Given the description of an element on the screen output the (x, y) to click on. 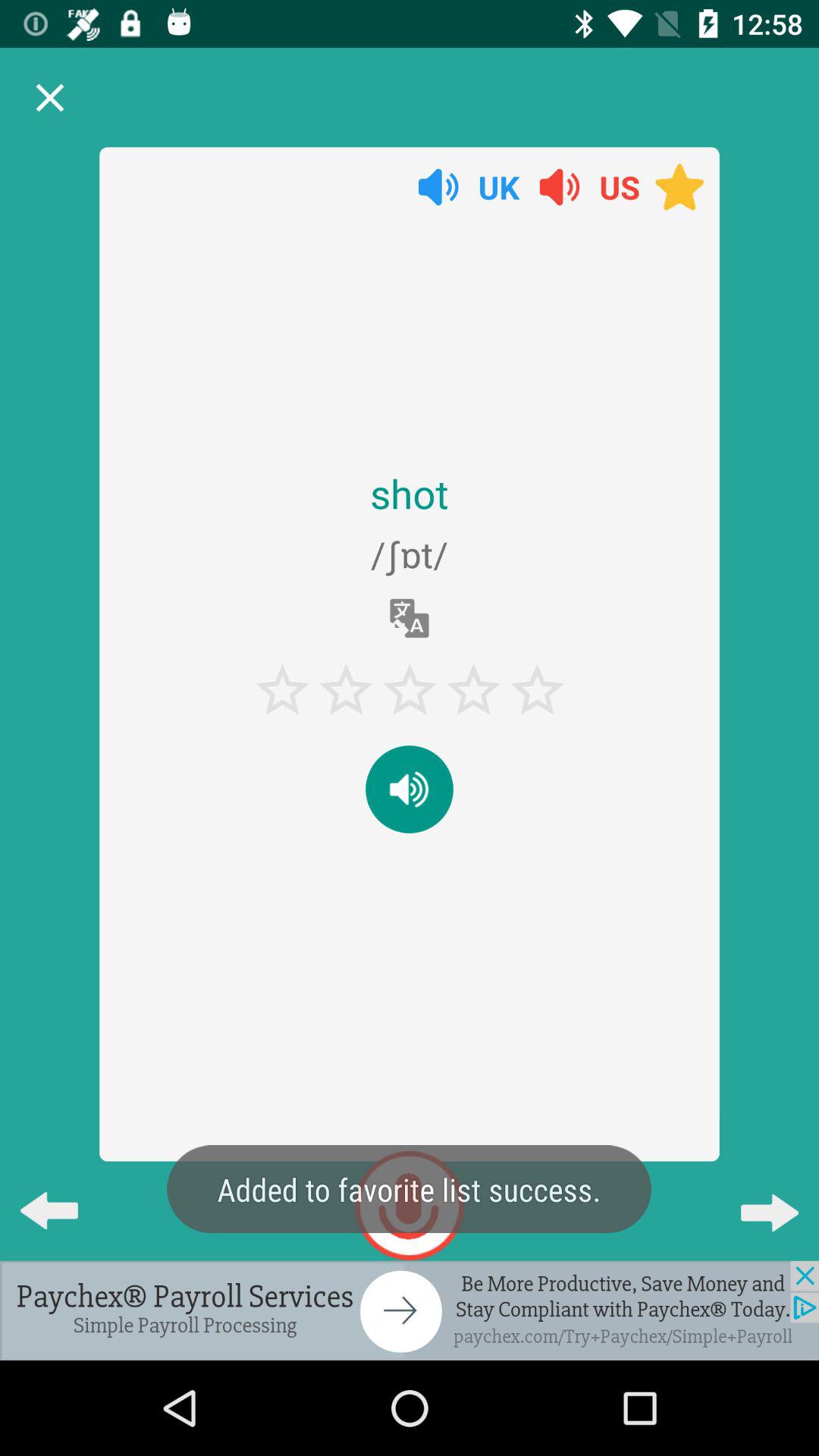
click at the icon of sound red in color (559, 187)
select red colour record button at bottom (409, 1205)
click on first volume icon which is left to the uk (438, 187)
click the volume button which is below the 5 stars (409, 789)
click on the star which is present beneath the shot (281, 690)
